Given the description of an element on the screen output the (x, y) to click on. 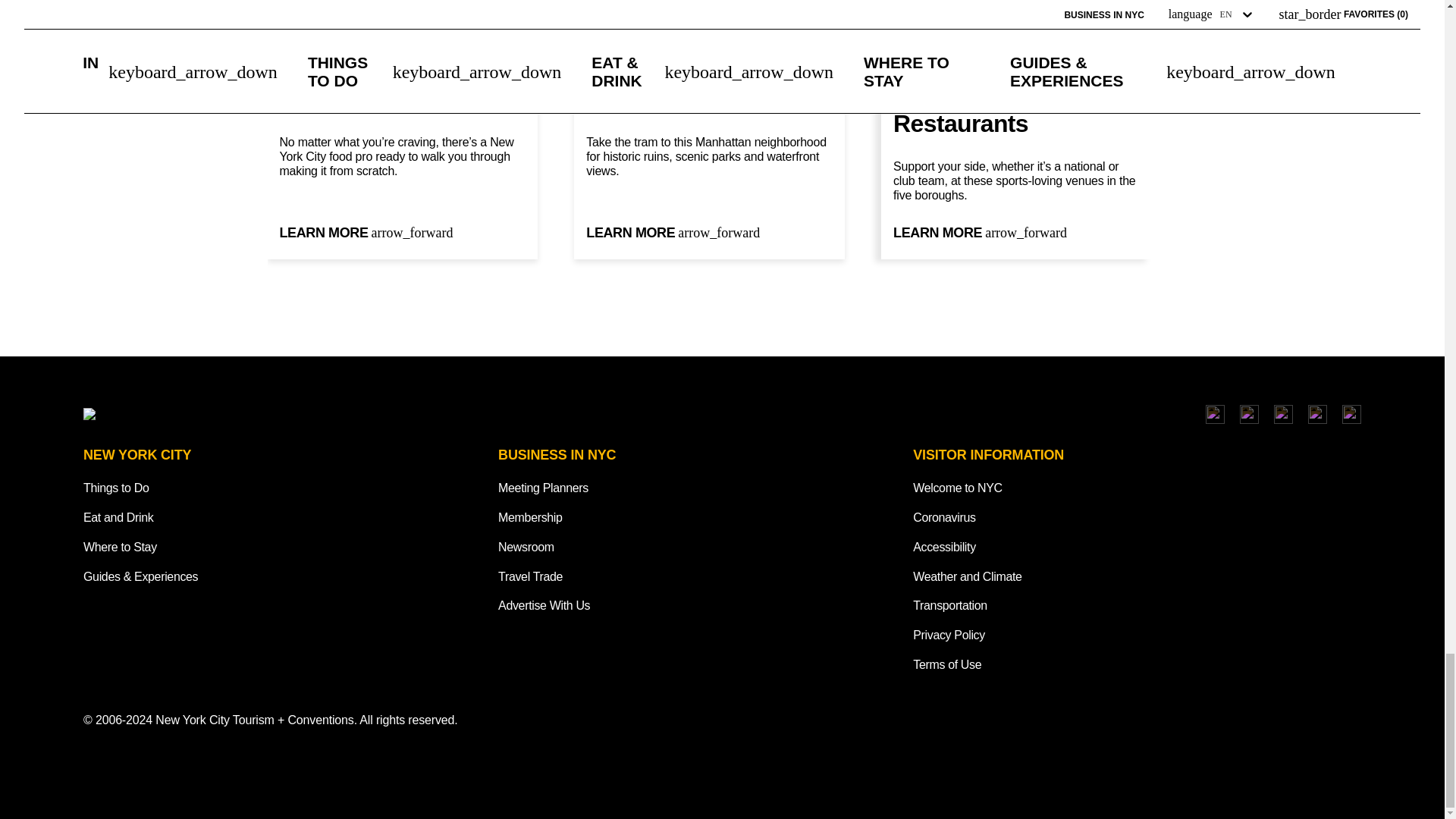
New York City Tourism and Conventions Instagram (1214, 414)
New York City Tourism and Conventions YouTube (1316, 414)
New York City Tourism and Conventions TikTok (1283, 414)
New York City Tourism and Conventions Homepage (260, 414)
New York City Tourism and Conventions Facebook (1249, 414)
New York City Tourism and Conventions Pinterest (1351, 414)
